Given the description of an element on the screen output the (x, y) to click on. 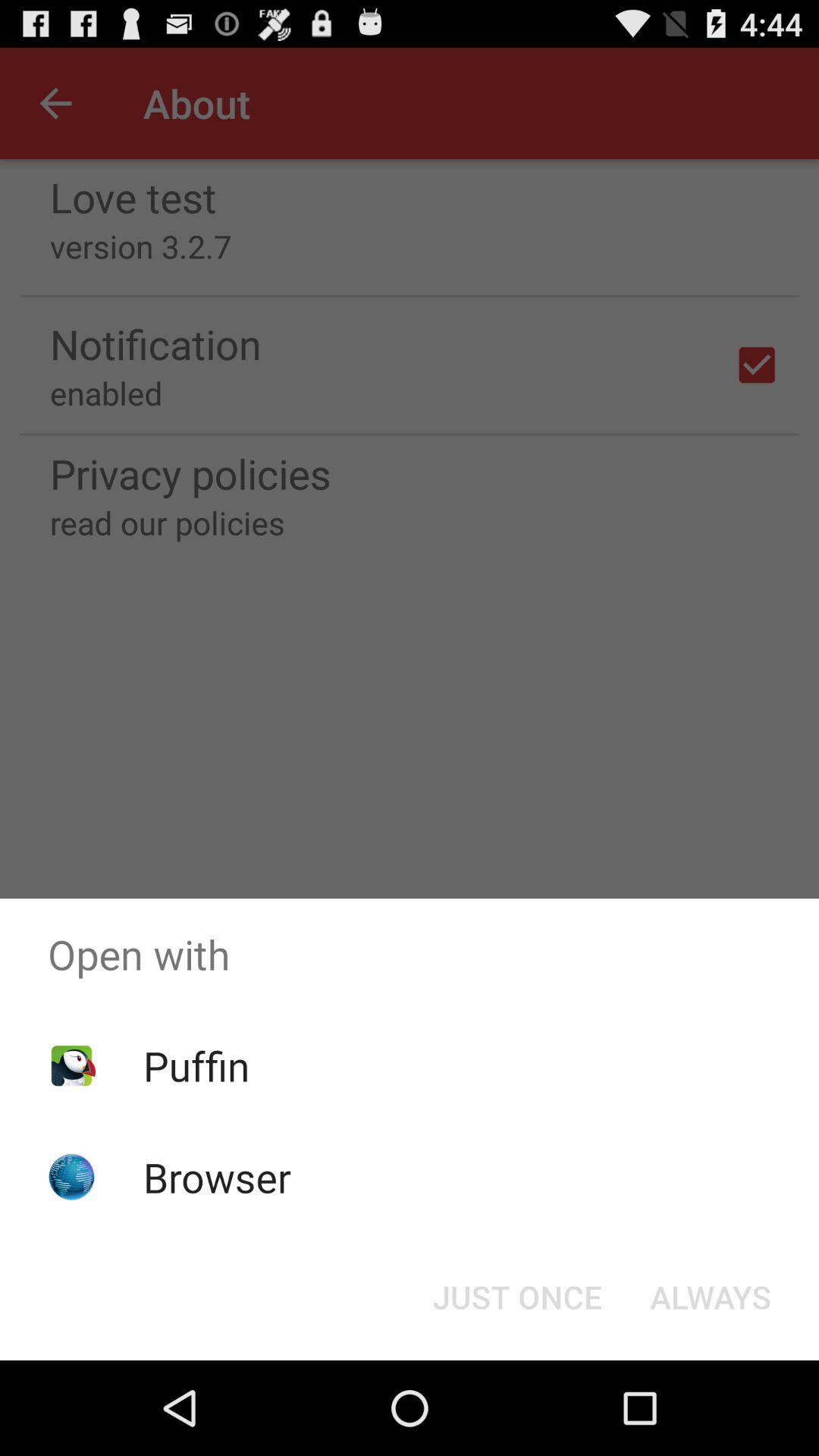
flip until the browser item (217, 1176)
